Given the description of an element on the screen output the (x, y) to click on. 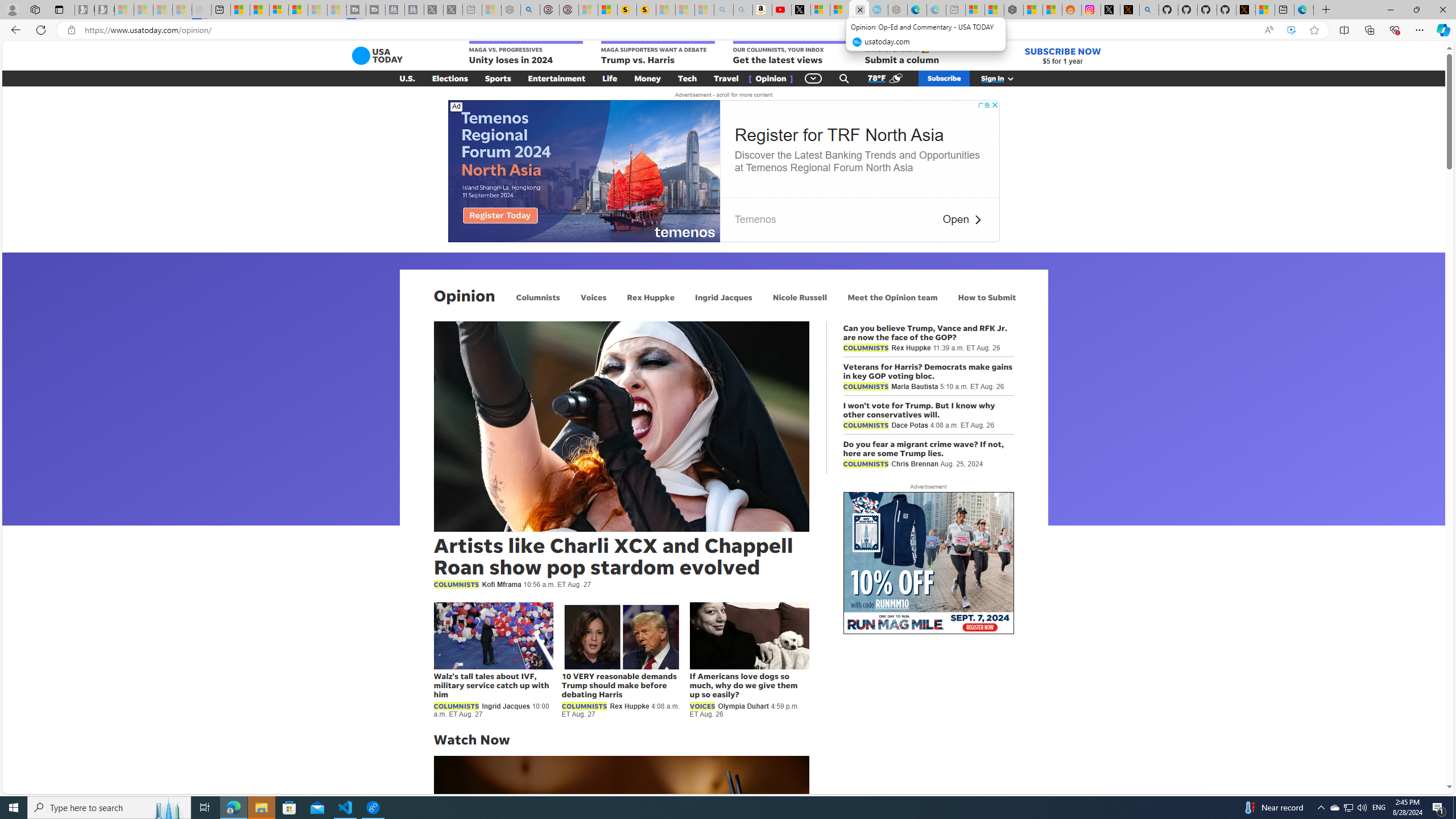
AutomationID: cbb (994, 104)
Settings and more (Alt+F) (1419, 29)
Streaming Coverage | T3 - Sleeping (356, 9)
Class: gnt_n_lg_svg (376, 55)
Microsoft Start - Sleeping (316, 9)
Rex Huppke (650, 296)
Newsletter Sign Up - Sleeping (104, 9)
New tab (1283, 9)
Ingrid Jacques (723, 296)
Welcome to Microsoft Edge (1303, 9)
Back (13, 29)
